Given the description of an element on the screen output the (x, y) to click on. 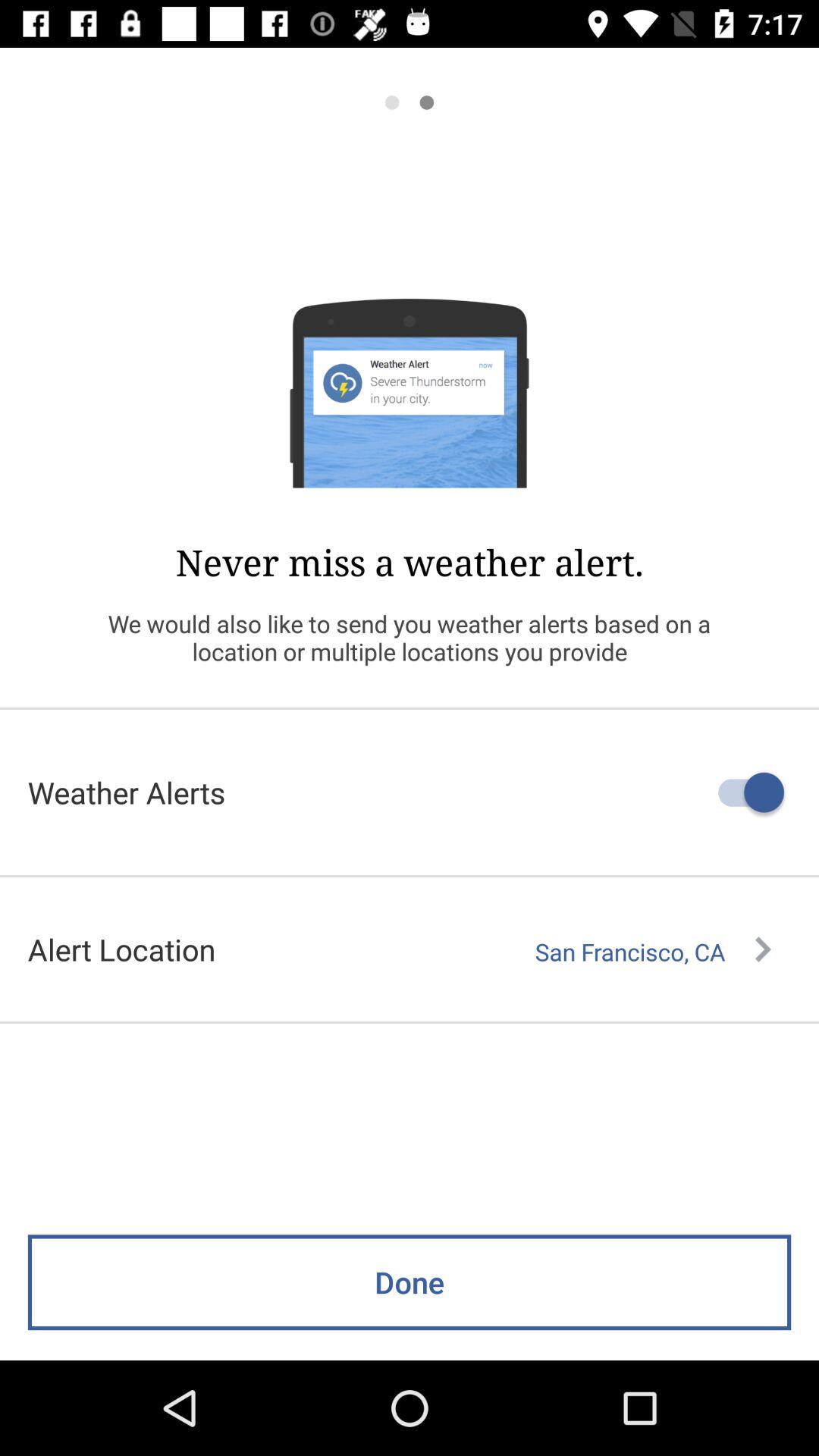
press the item next to the alert location item (653, 951)
